Given the description of an element on the screen output the (x, y) to click on. 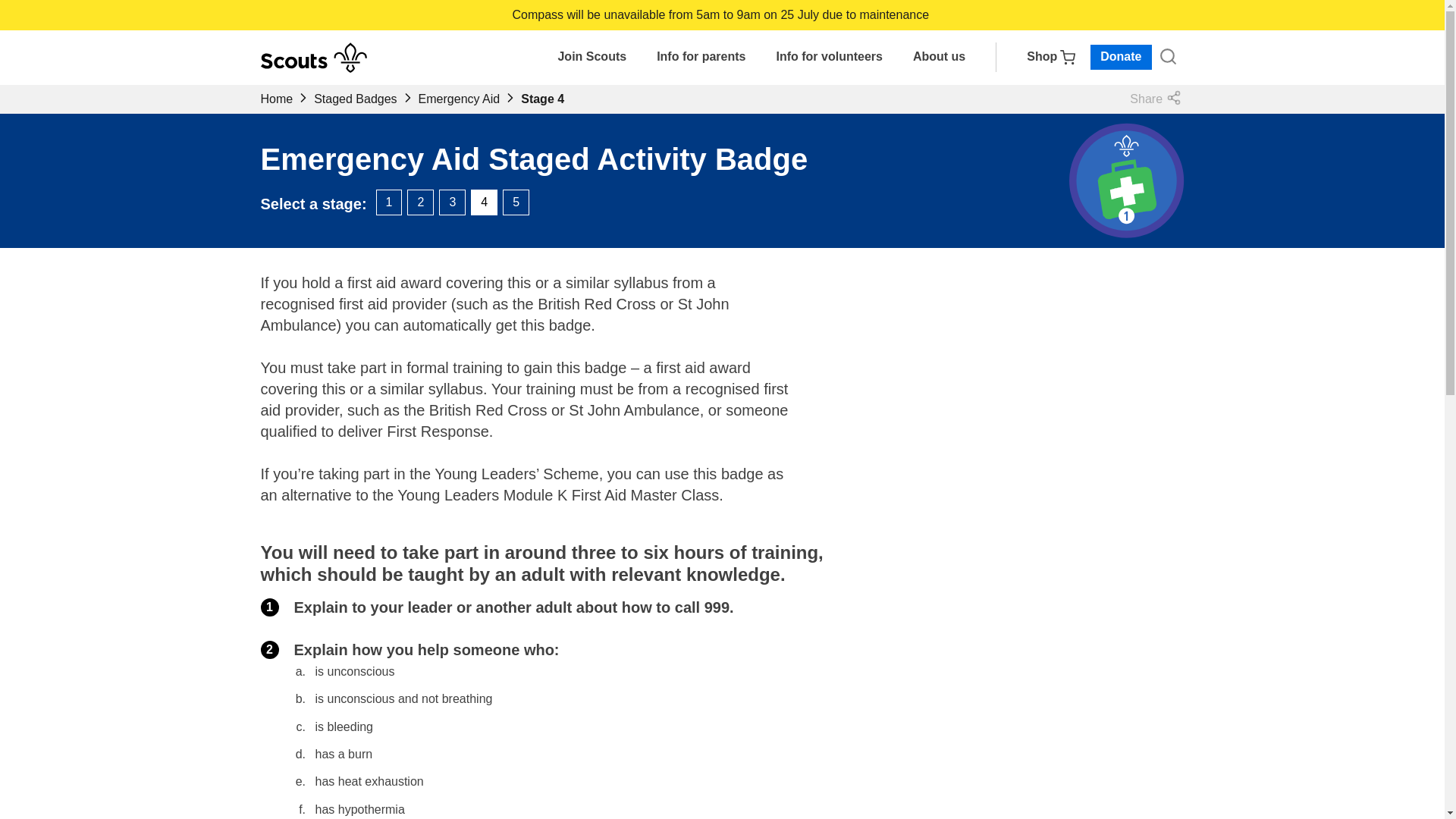
Join Scouts (591, 56)
Info for volunteers (829, 56)
About us (939, 56)
Info for parents (700, 56)
